Given the description of an element on the screen output the (x, y) to click on. 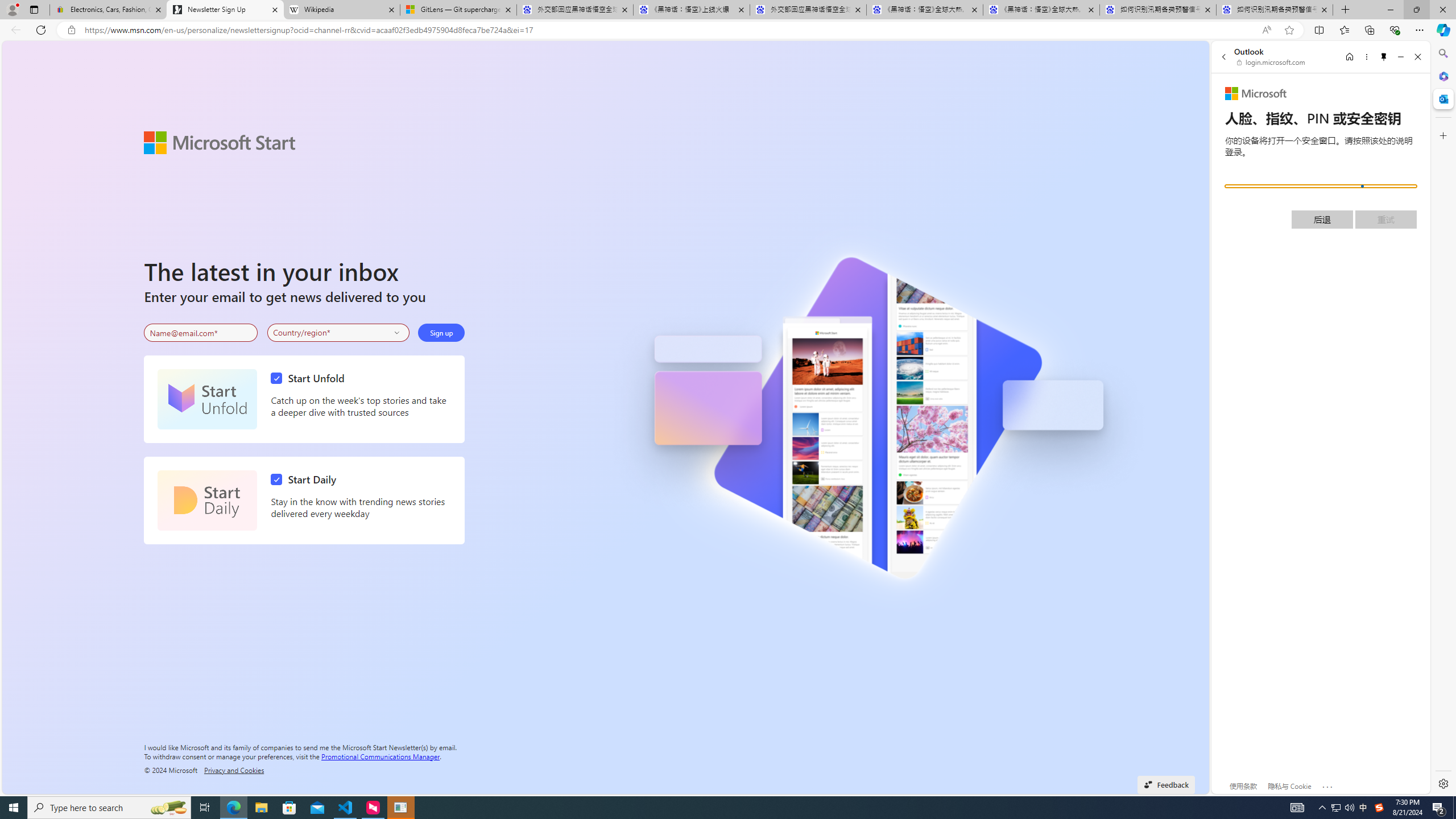
Microsoft (1255, 93)
Start Unfold (207, 399)
Newsletter Sign Up (224, 9)
Start Daily (306, 479)
Privacy and Cookies (233, 769)
Promotional Communications Manager (380, 755)
